Given the description of an element on the screen output the (x, y) to click on. 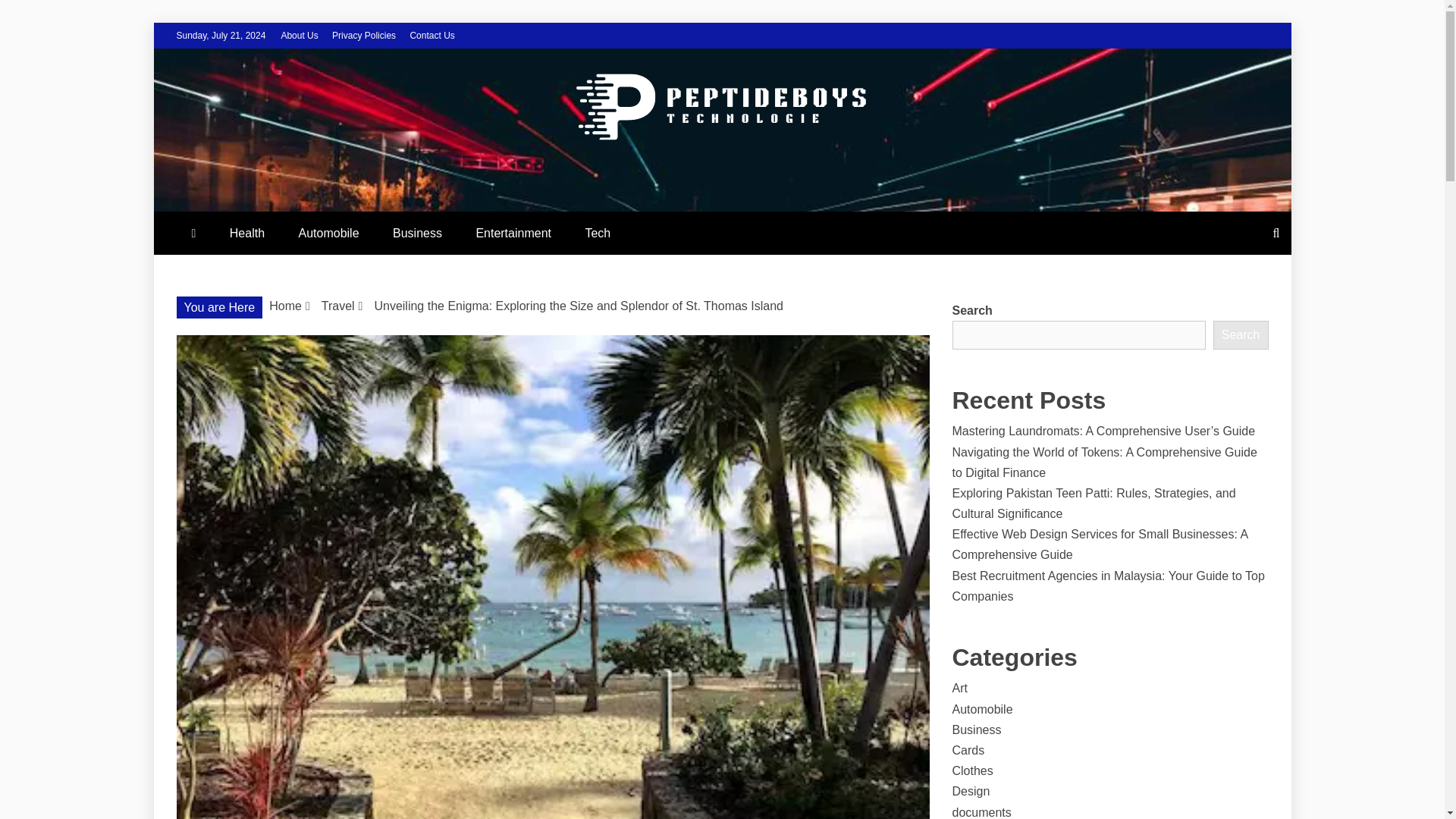
Automobile (982, 708)
Health (246, 232)
Automobile (328, 232)
Home (285, 305)
Business (976, 729)
Entertainment (513, 232)
Search (1240, 335)
Contact Us (431, 35)
Privacy Policies (363, 35)
Tech (597, 232)
Business (417, 232)
About Us (299, 35)
